Given the description of an element on the screen output the (x, y) to click on. 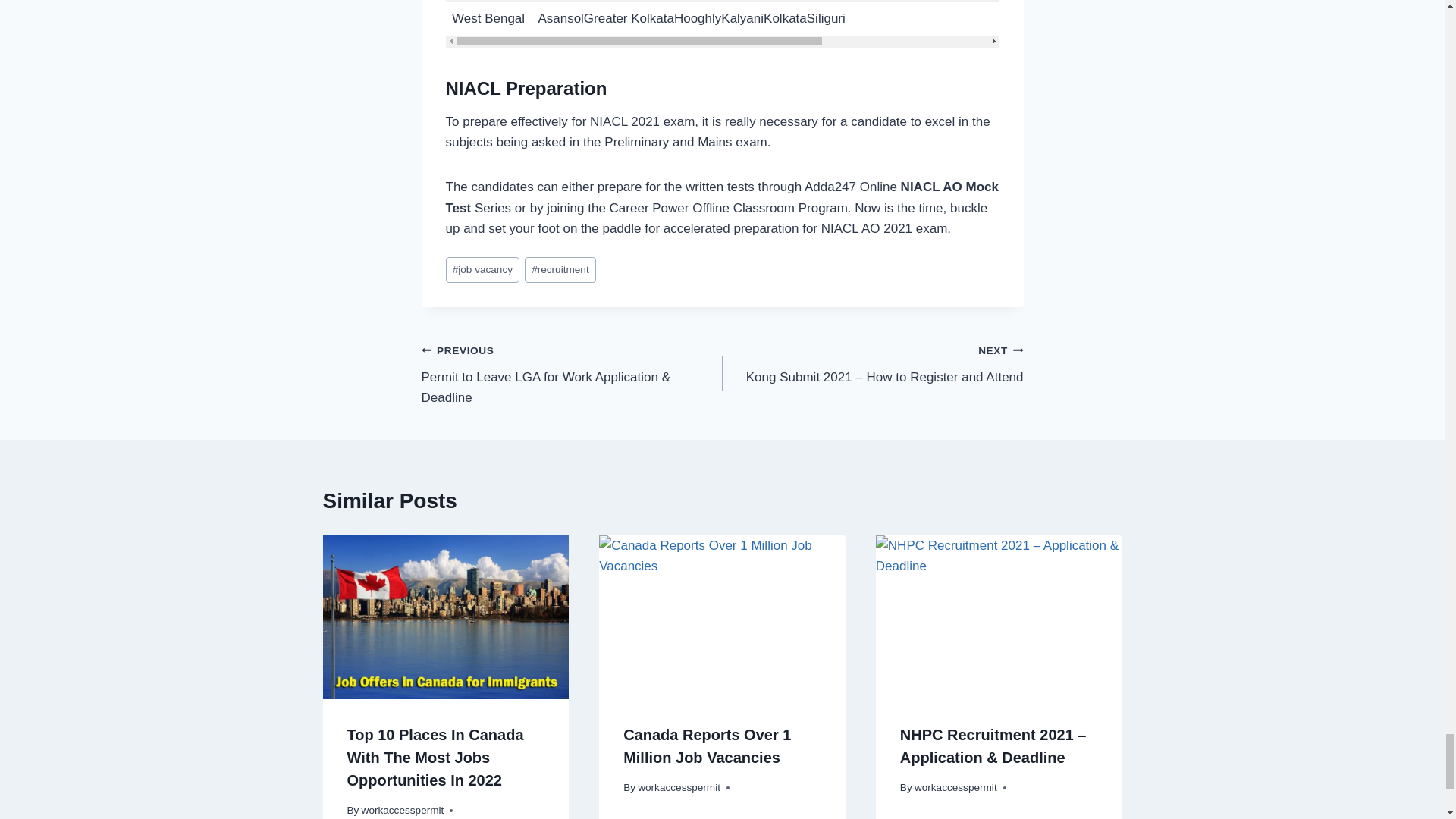
workaccesspermit (402, 809)
Canada Reports Over 1 Million Job Vacancies (706, 745)
job vacancy (482, 270)
recruitment (559, 270)
workaccesspermit (678, 787)
workaccesspermit (955, 787)
